Given the description of an element on the screen output the (x, y) to click on. 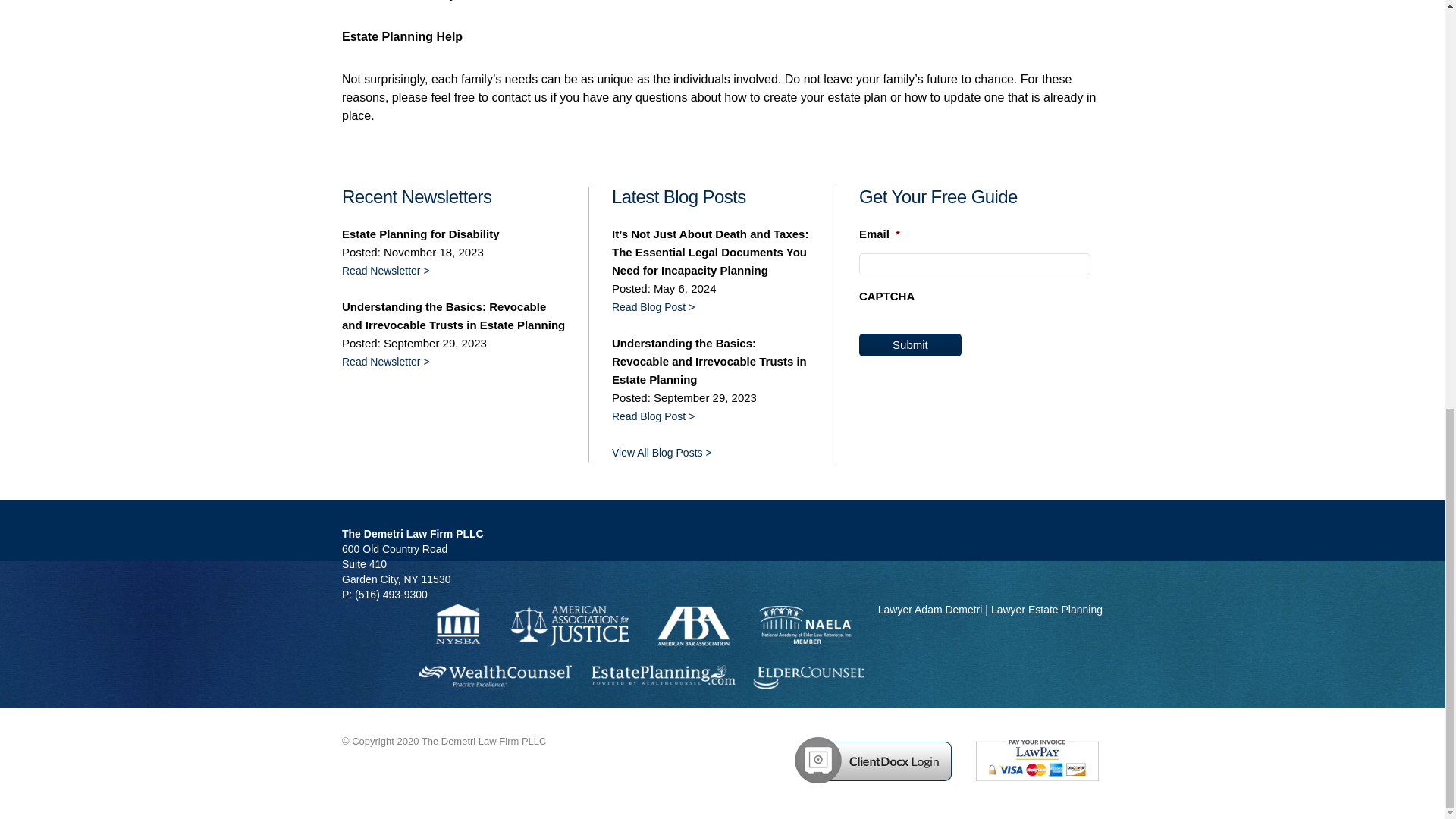
Submit (909, 344)
